Given the description of an element on the screen output the (x, y) to click on. 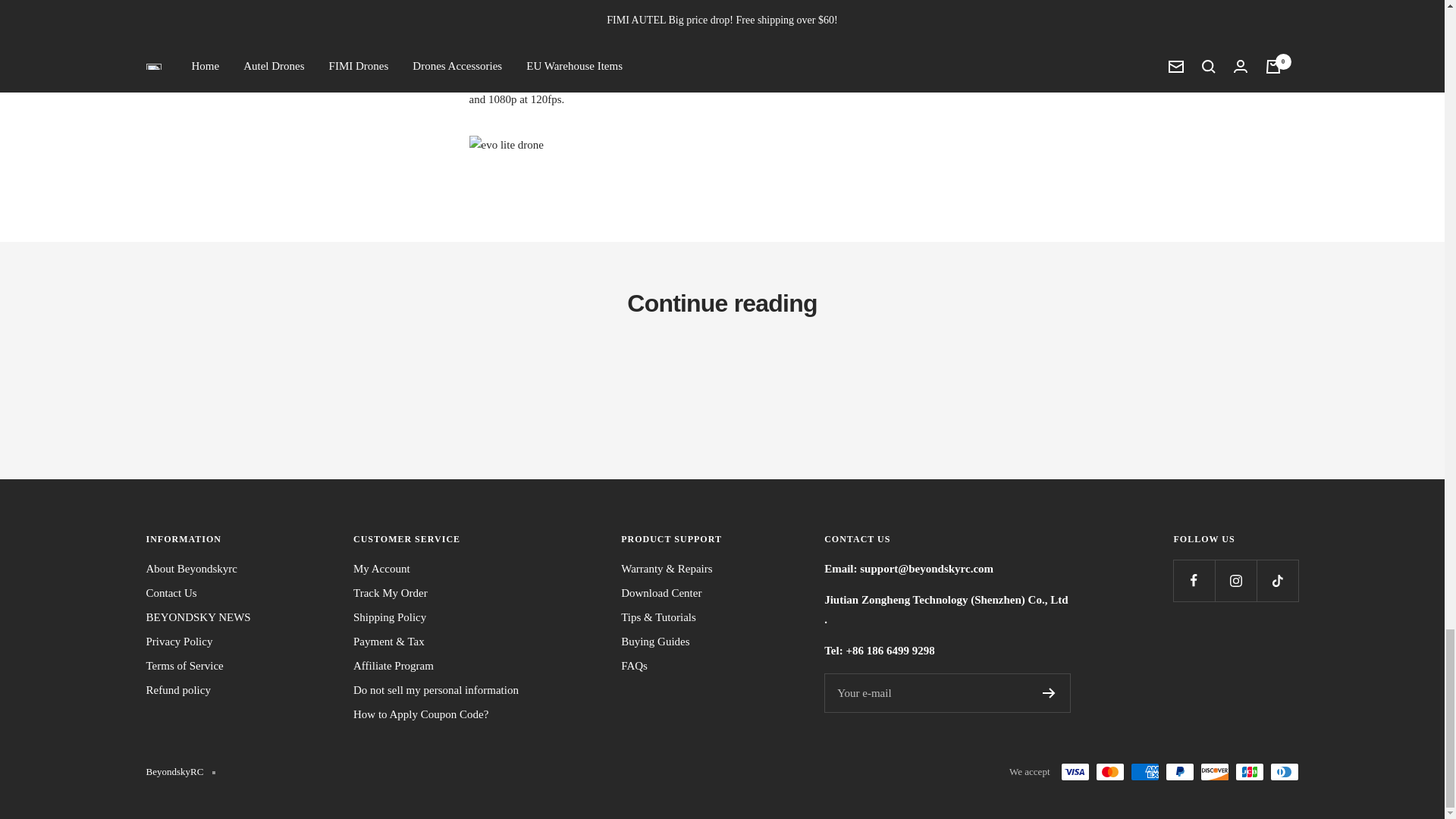
Register (1048, 692)
